Given the description of an element on the screen output the (x, y) to click on. 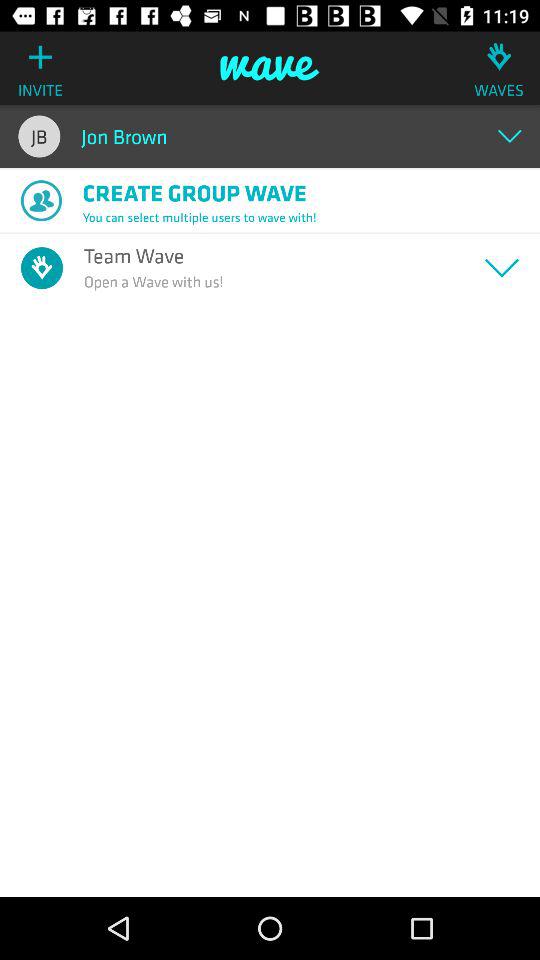
click icon next to invite item (269, 68)
